Given the description of an element on the screen output the (x, y) to click on. 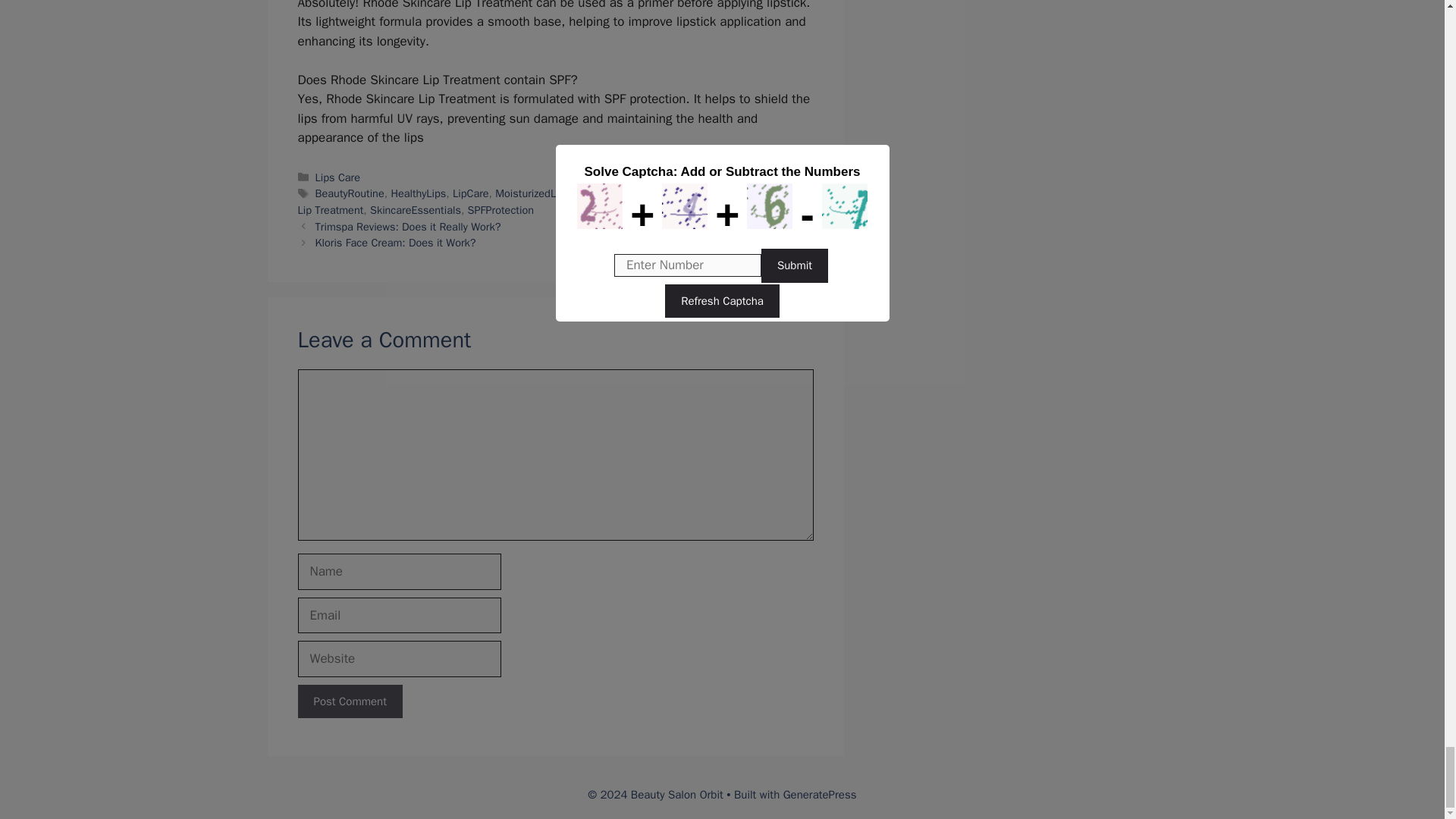
Post Comment (349, 701)
NaturalBeauty (610, 192)
MoisturizedLips (532, 192)
LipCare (470, 192)
HealthyLips (417, 192)
NourishedLips (684, 192)
Lips Care (337, 177)
SkincareEssentials (415, 210)
BeautyRoutine (349, 192)
SPFProtection (500, 210)
Kloris Face Cream: Does it Work? (395, 242)
Rhode Skincare Lip Treatment (548, 201)
Trimspa Reviews: Does it Really Work? (407, 226)
